Given the description of an element on the screen output the (x, y) to click on. 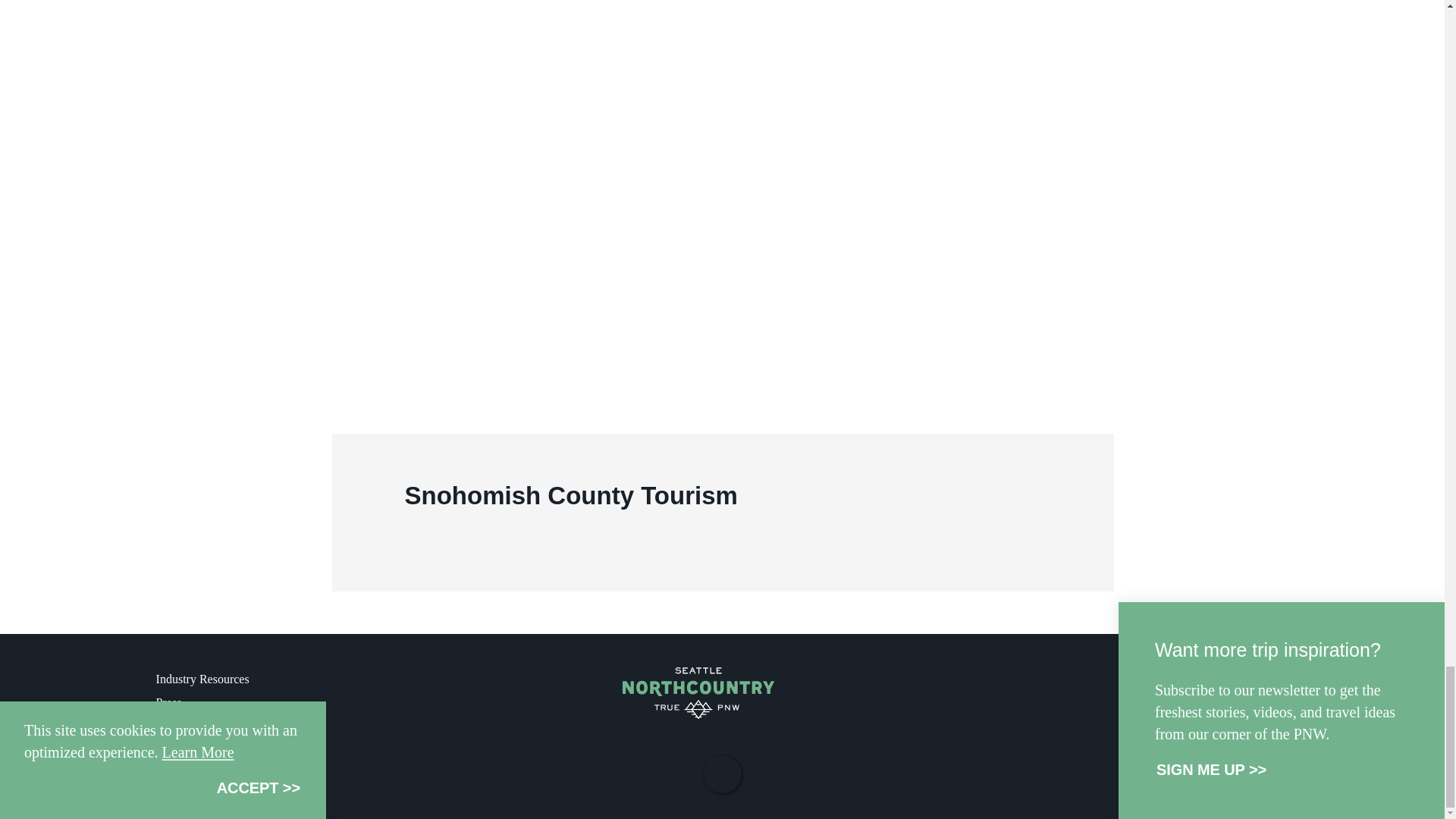
Press (168, 702)
Stories (172, 725)
Industry Resources (201, 678)
Privacy Policy (191, 749)
Contact Us (183, 773)
